Given the description of an element on the screen output the (x, y) to click on. 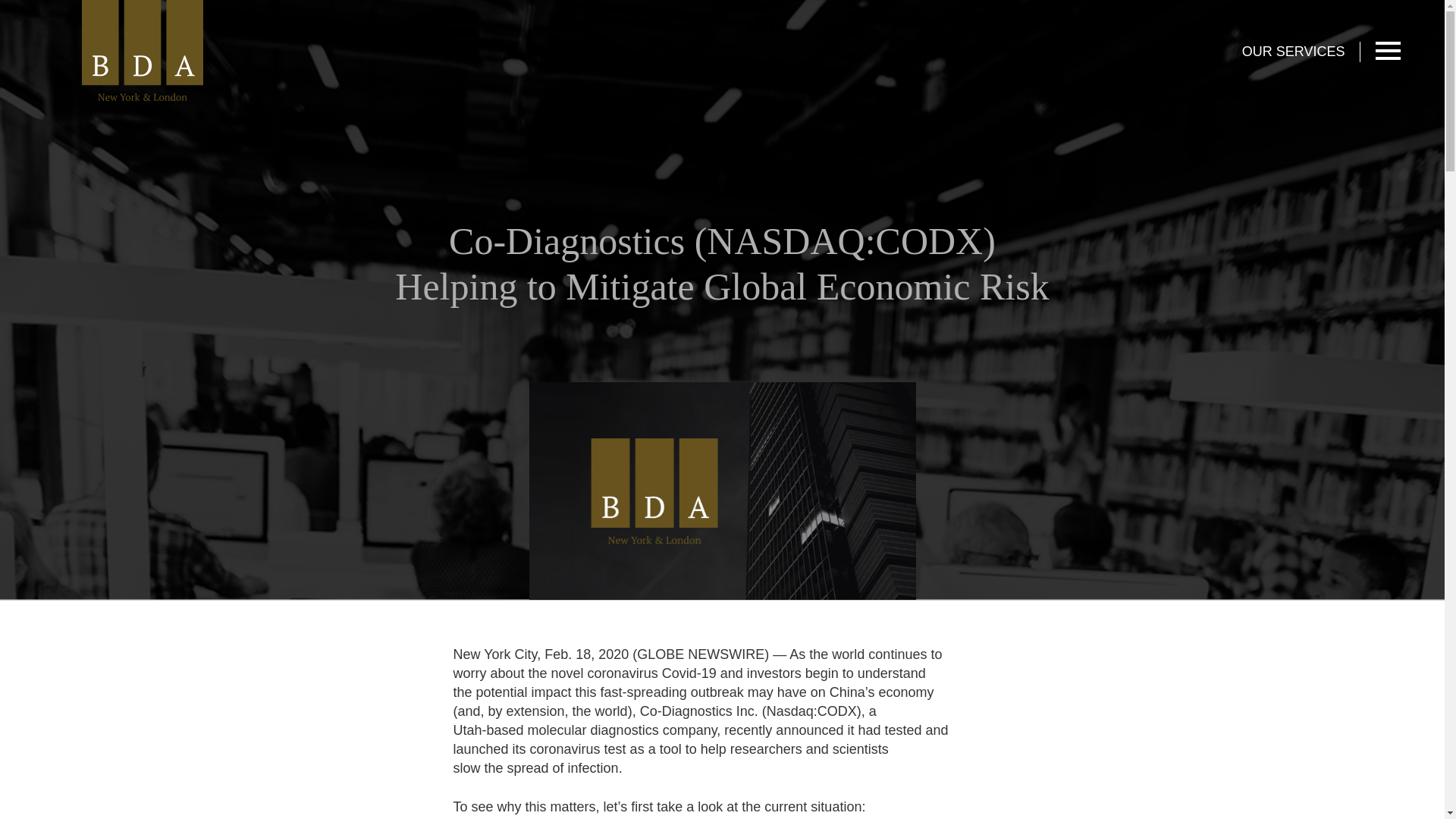
OUR SERVICES (1301, 51)
